Given the description of an element on the screen output the (x, y) to click on. 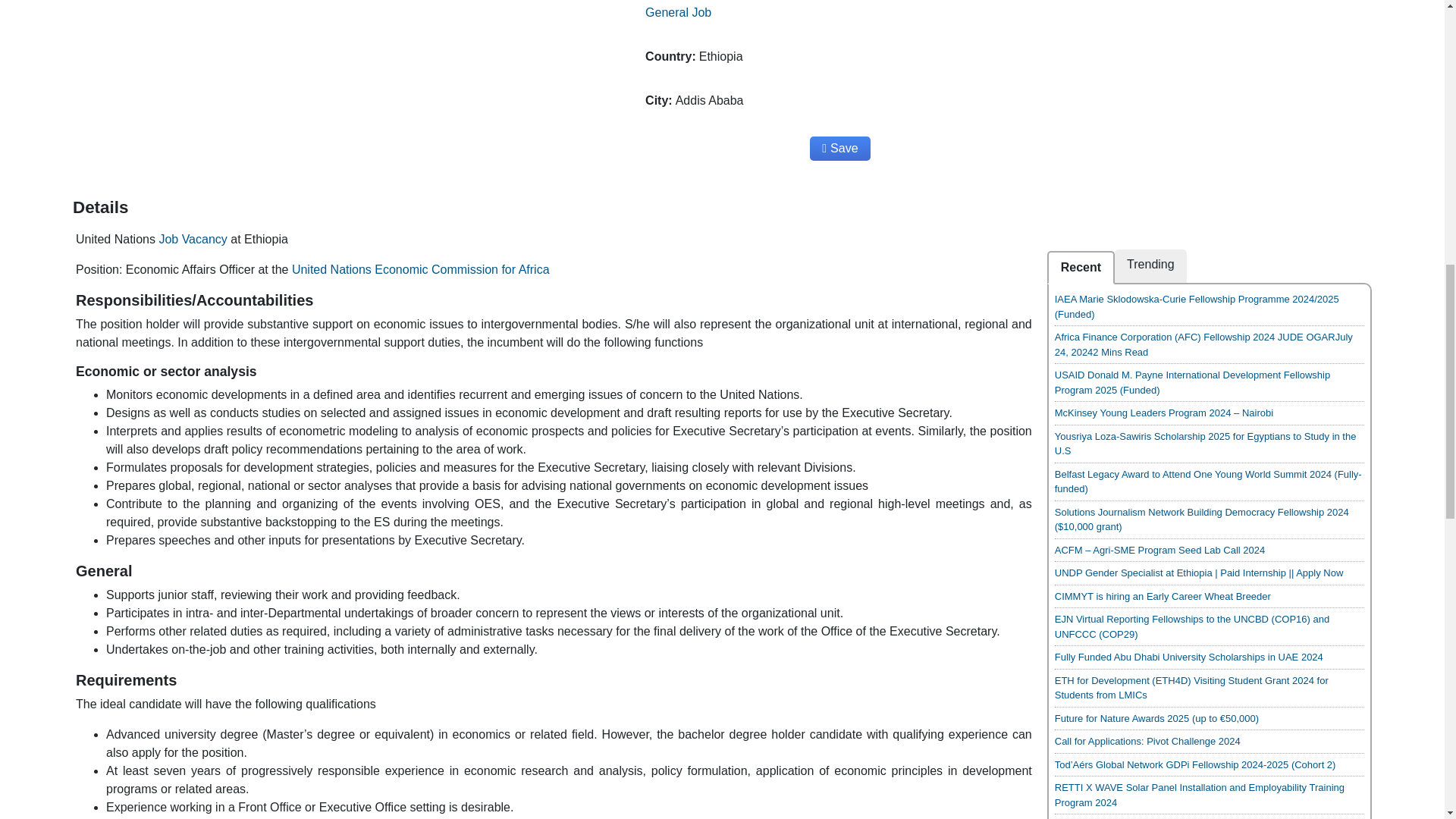
Save the opportunity to view it easily afterwards (839, 148)
